Given the description of an element on the screen output the (x, y) to click on. 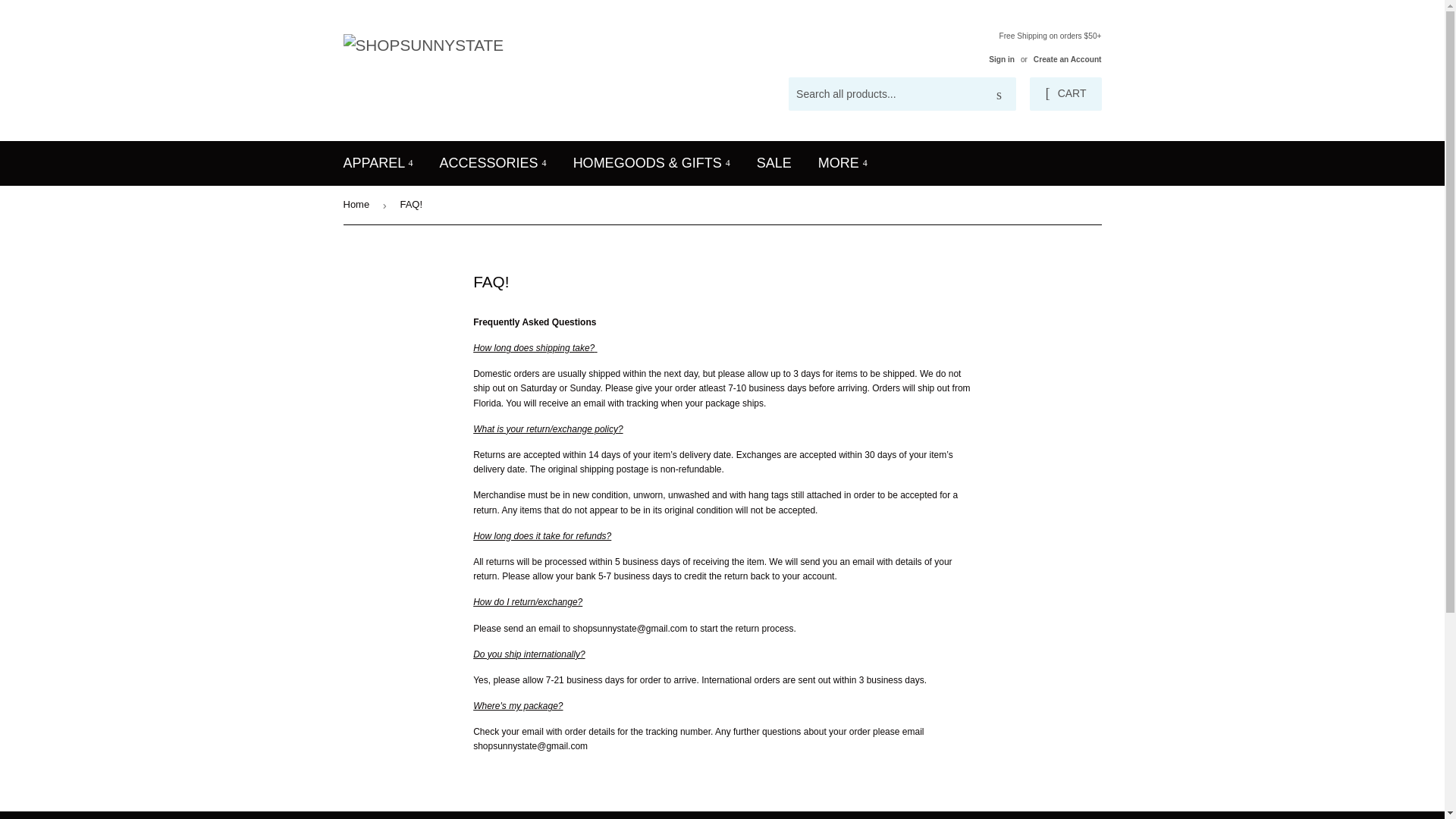
Search (998, 94)
Create an Account (1067, 59)
CART (1064, 93)
Sign in (1001, 59)
